Given the description of an element on the screen output the (x, y) to click on. 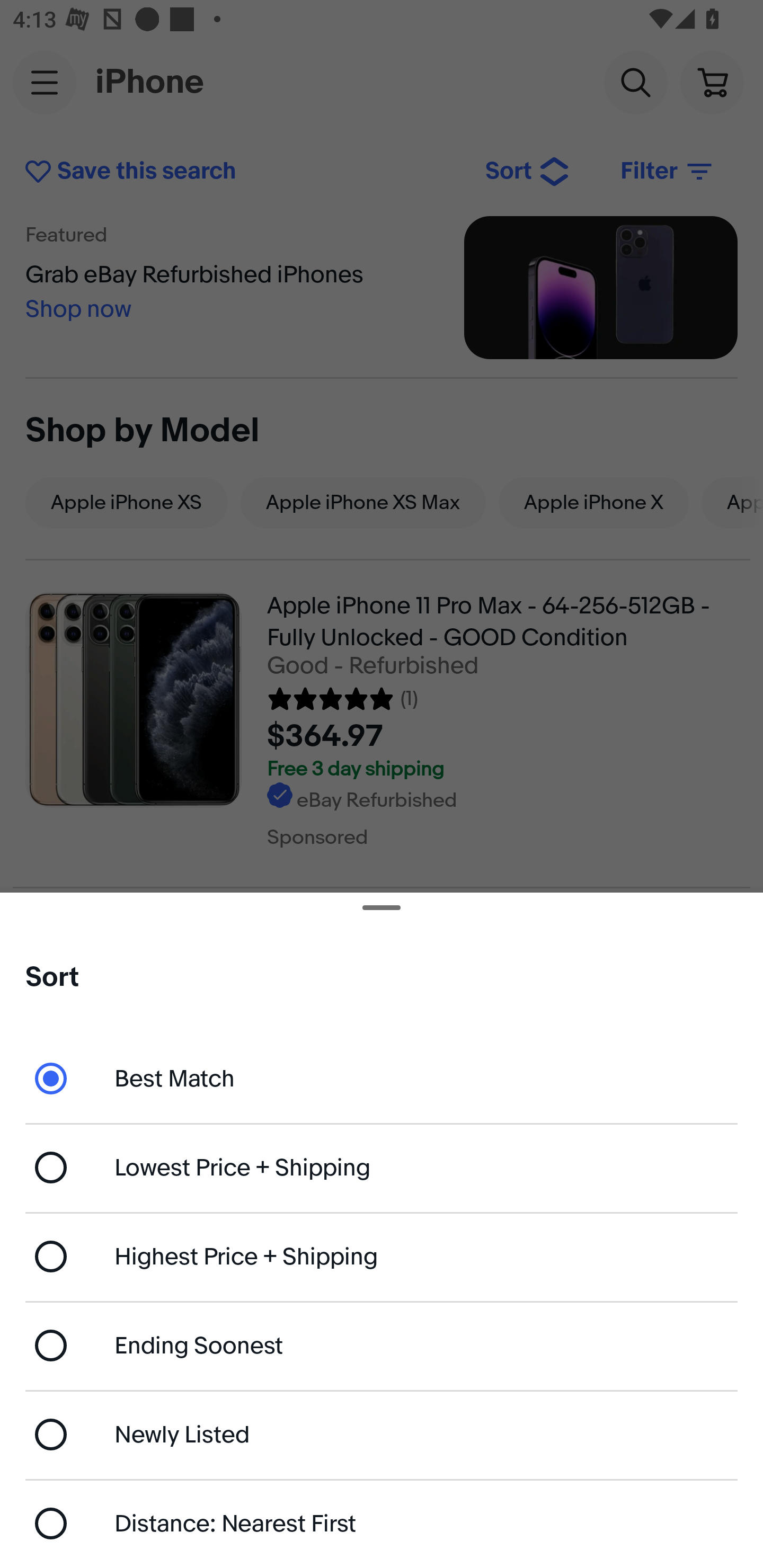
Best Match - currently selected Best Match (381, 1077)
Lowest Price + Shipping (381, 1167)
Highest Price + Shipping (381, 1256)
Ending Soonest (381, 1345)
Newly Listed (381, 1433)
Distance: Nearest First (381, 1523)
